Given the description of an element on the screen output the (x, y) to click on. 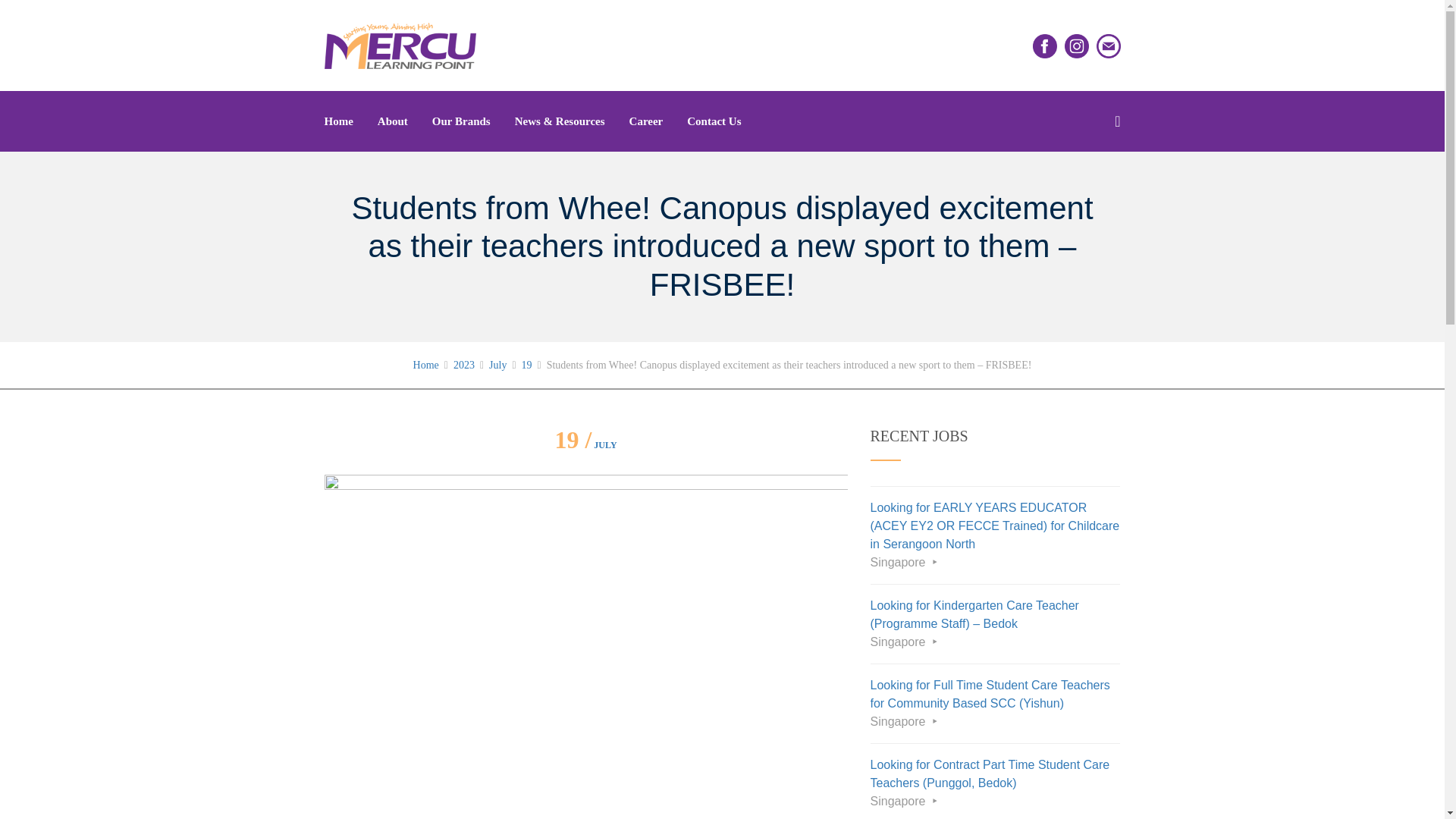
 Facebook (1044, 46)
Home (426, 365)
About (392, 120)
July (497, 365)
 Email (1108, 46)
2023 (463, 365)
19 (526, 365)
Contact Us (708, 120)
 Instagram (1076, 46)
Career (646, 120)
Our Brands (461, 120)
